Given the description of an element on the screen output the (x, y) to click on. 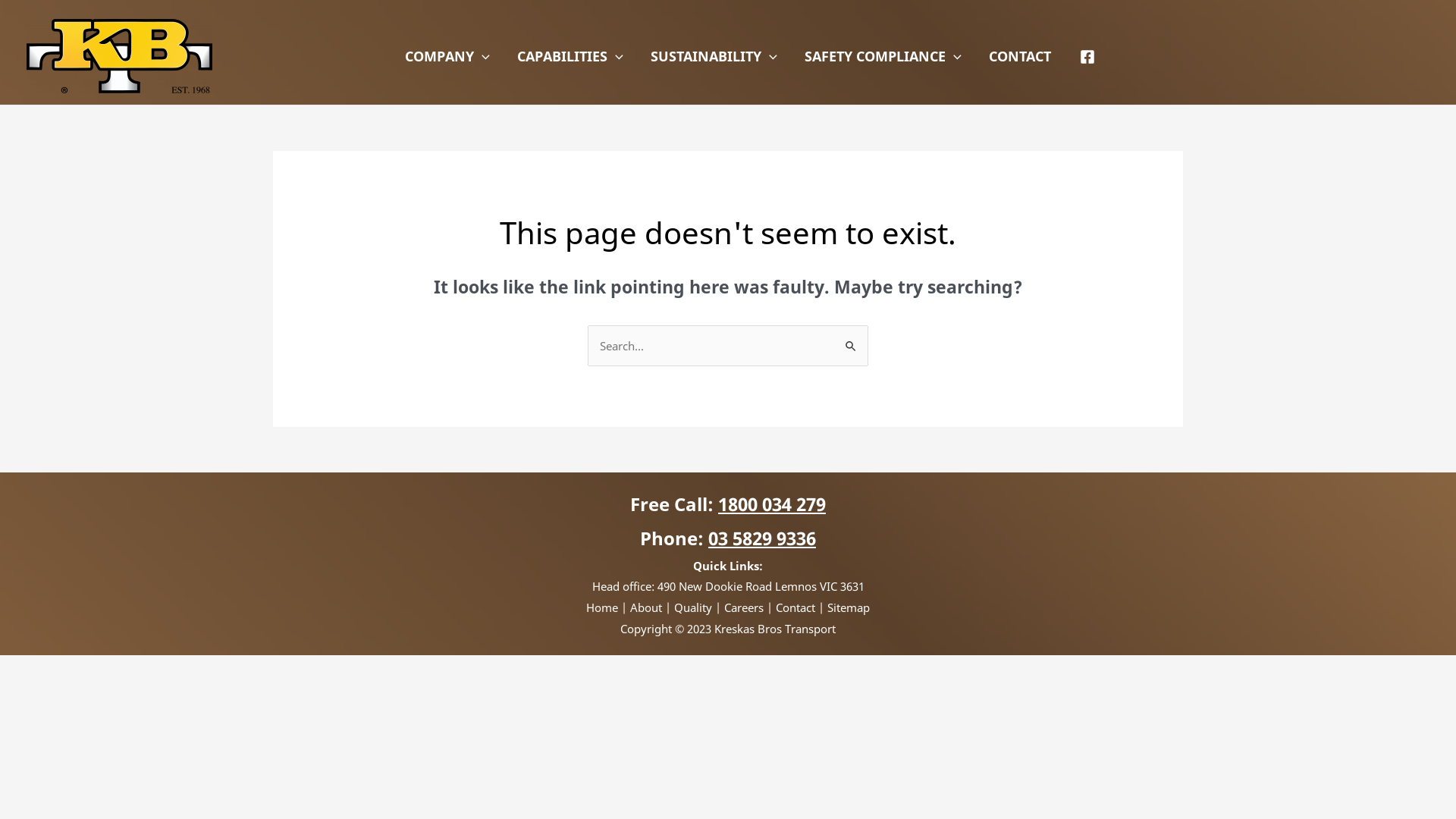
Sitemap Element type: text (848, 607)
1800 034 279 Element type: text (771, 503)
COMPANY Element type: text (447, 55)
SAFETY COMPLIANCE Element type: text (882, 55)
Contact Element type: text (795, 607)
Search Element type: text (851, 340)
About Element type: text (646, 607)
CAPABILITIES Element type: text (570, 55)
Quality Element type: text (693, 607)
CONTACT Element type: text (1019, 55)
03 5829 9336 Element type: text (761, 537)
Home Element type: text (602, 607)
Careers Element type: text (743, 607)
490 New Dookie Road Lemnos VIC 3631 Element type: text (759, 585)
SUSTAINABILITY Element type: text (713, 55)
